Given the description of an element on the screen output the (x, y) to click on. 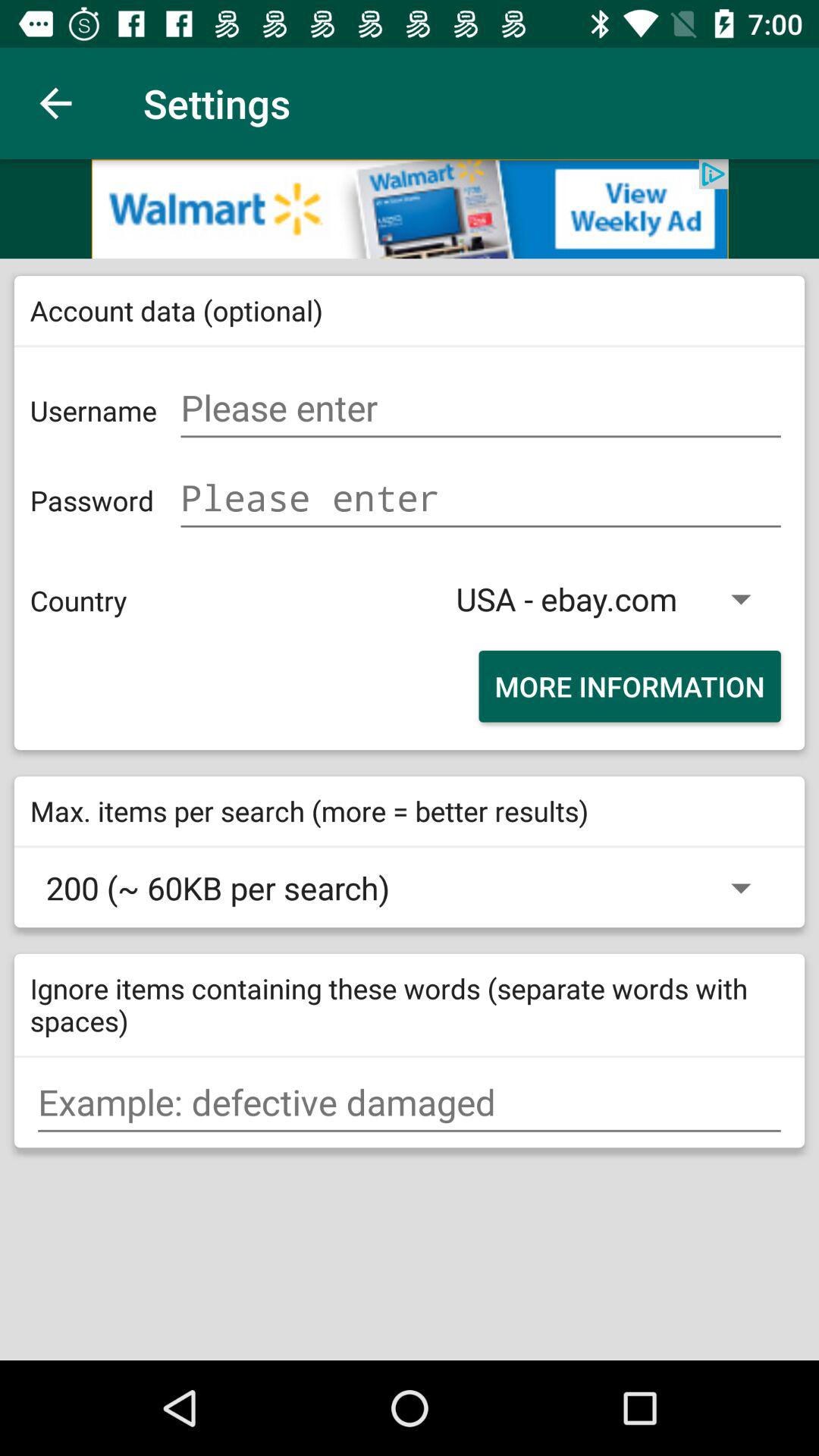
password option (480, 498)
